Given the description of an element on the screen output the (x, y) to click on. 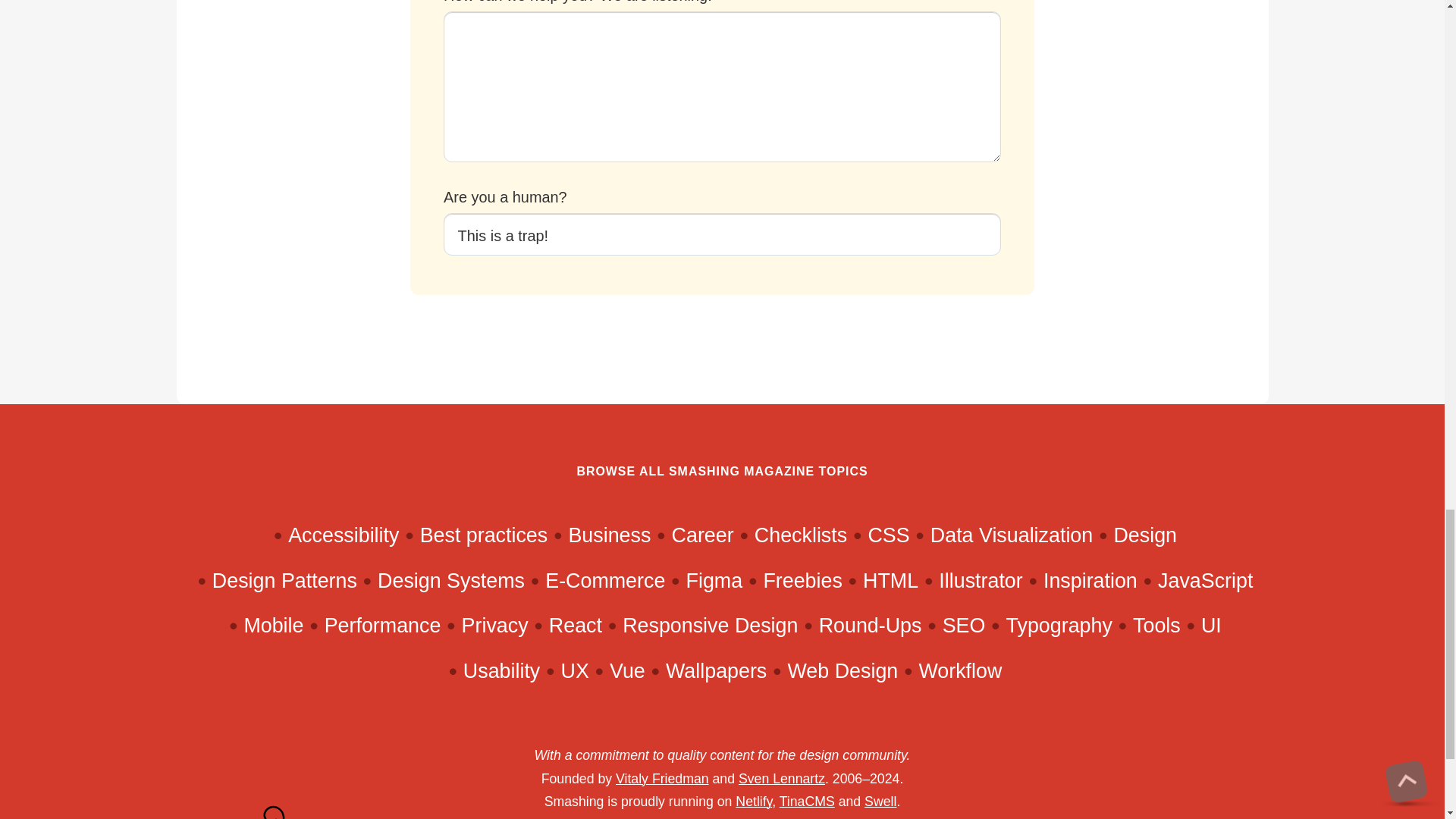
Career (702, 535)
Best practices (484, 535)
E-Commerce (604, 580)
CSS (887, 535)
Accessibility (343, 535)
Design Patterns (284, 580)
Business (608, 535)
This is a trap! (722, 234)
Data Visualization (1011, 535)
Checklists (800, 535)
Design (1144, 535)
Design Systems (450, 580)
